Given the description of an element on the screen output the (x, y) to click on. 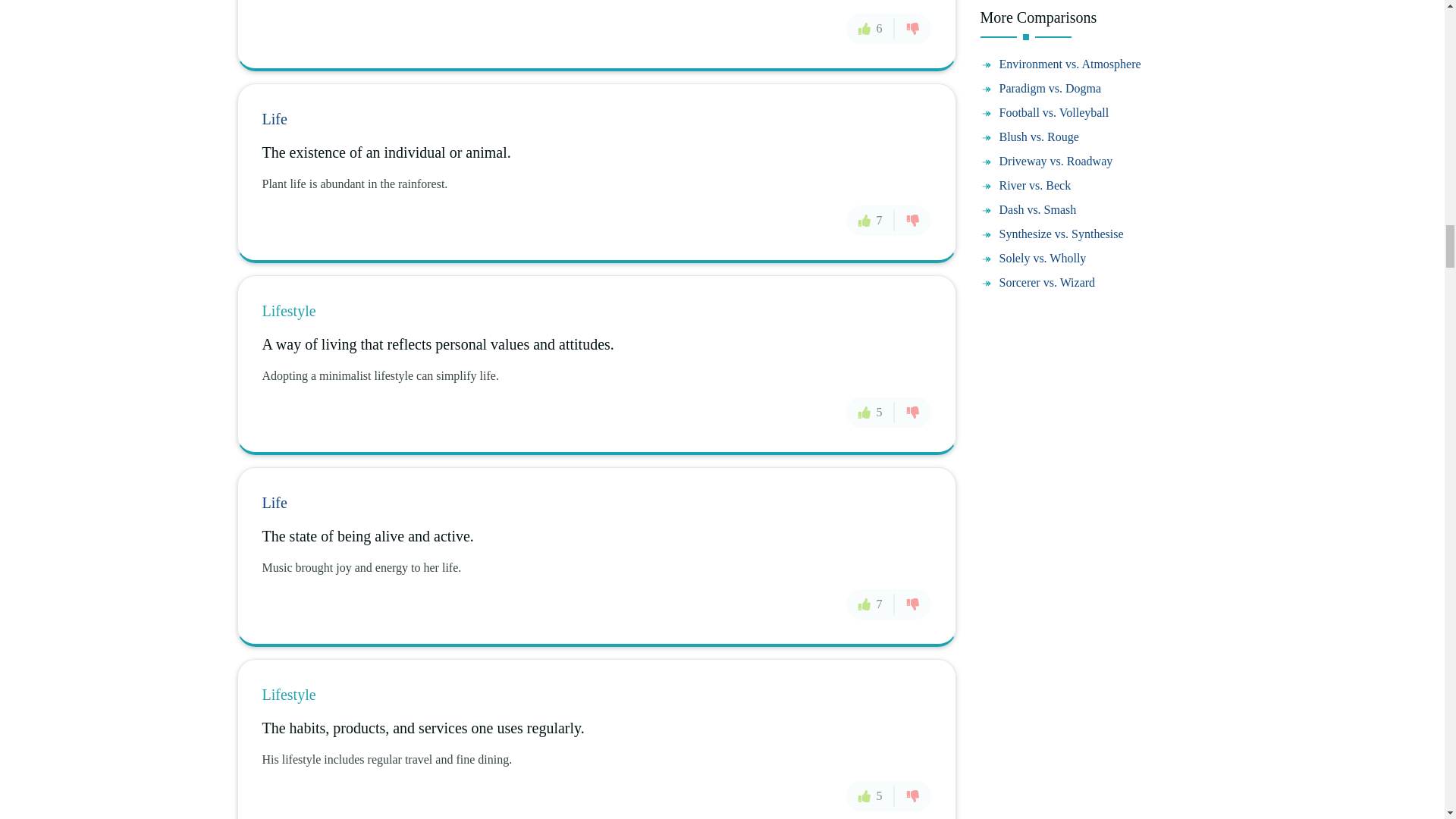
6 (870, 28)
